Given the description of an element on the screen output the (x, y) to click on. 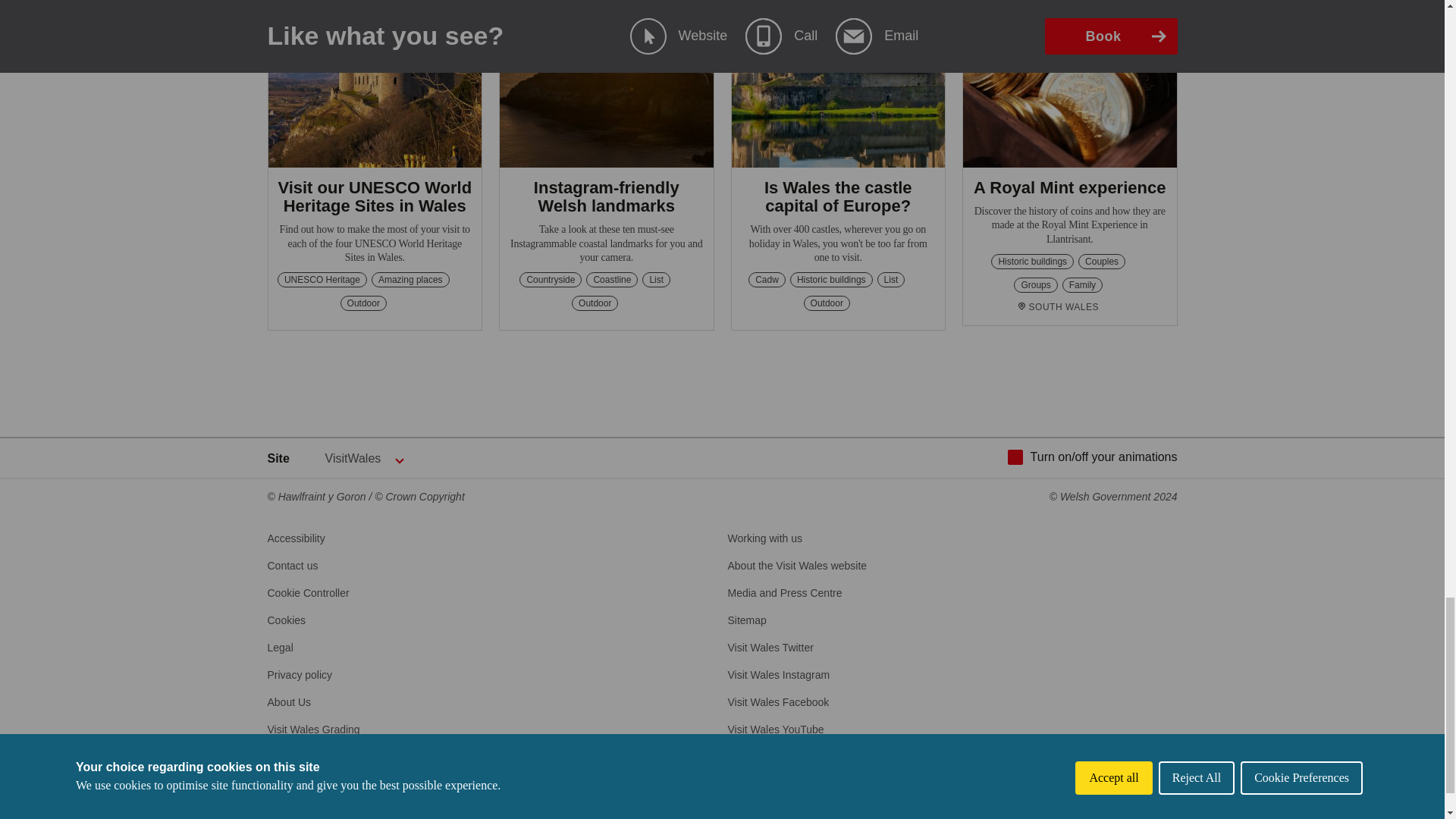
Visit our UNESCO World Heritage Sites in Wales (374, 196)
Amazing places (410, 279)
UNESCO Heritage (322, 279)
